Given the description of an element on the screen output the (x, y) to click on. 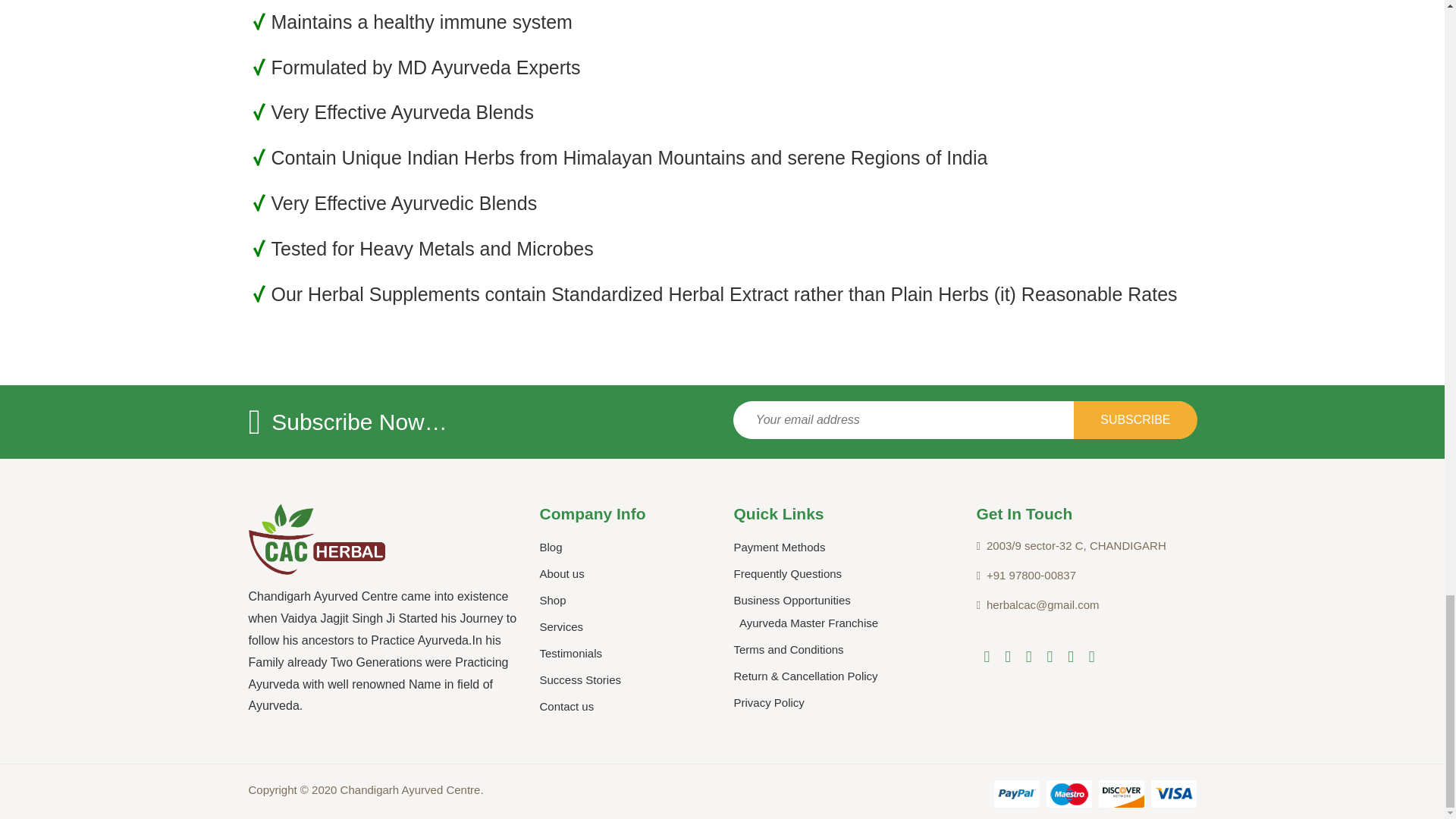
Success Stories (580, 679)
Testimonials (571, 653)
Services (561, 626)
subscribe (1135, 419)
Ayurveda Master Franchise (808, 622)
subscribe (1135, 419)
Frequently Questions (788, 573)
Payment Methods (779, 546)
Shop (553, 599)
Blog (551, 546)
